Given the description of an element on the screen output the (x, y) to click on. 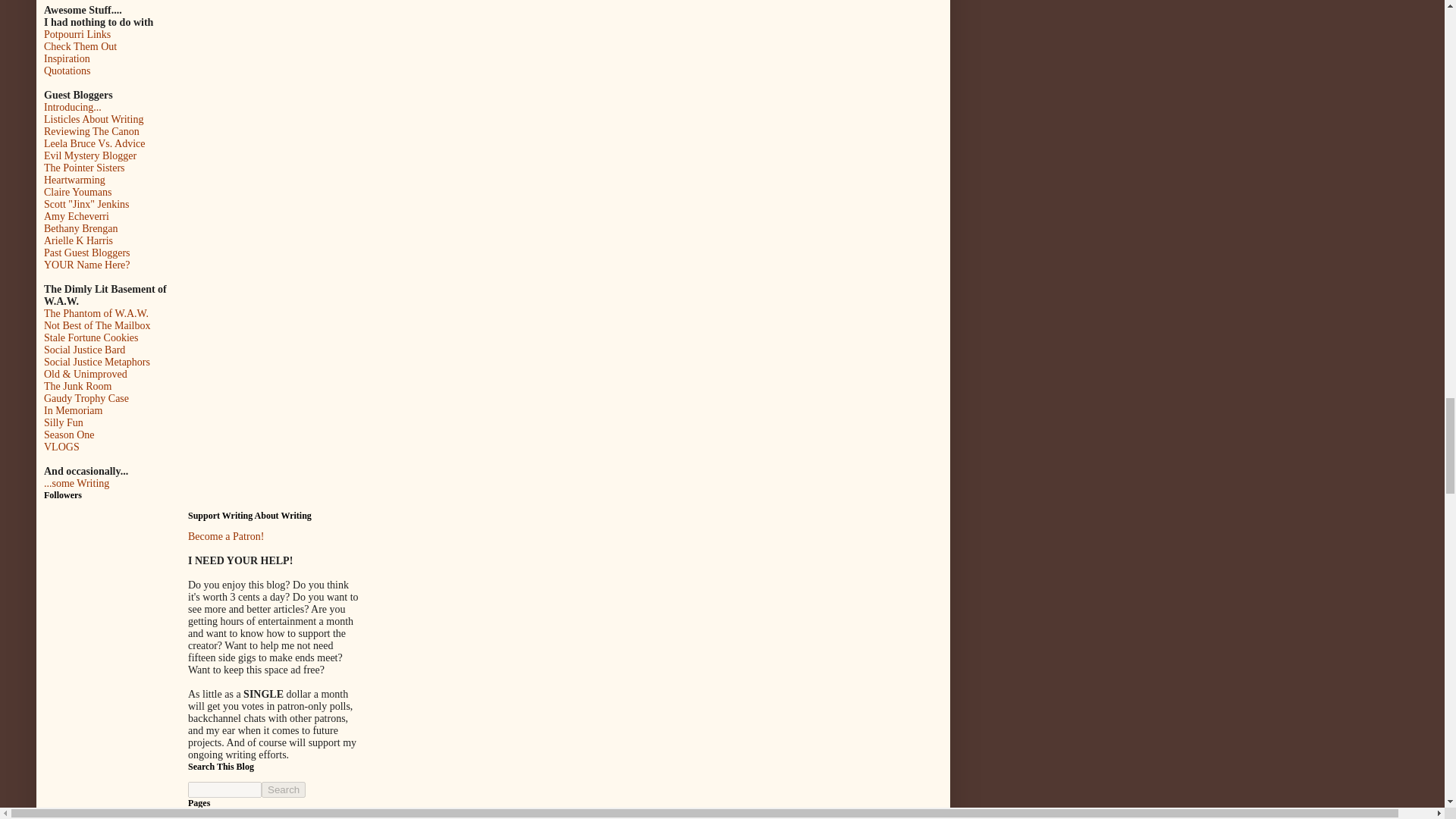
Search (283, 789)
search (224, 789)
search (283, 789)
Search (283, 789)
